Given the description of an element on the screen output the (x, y) to click on. 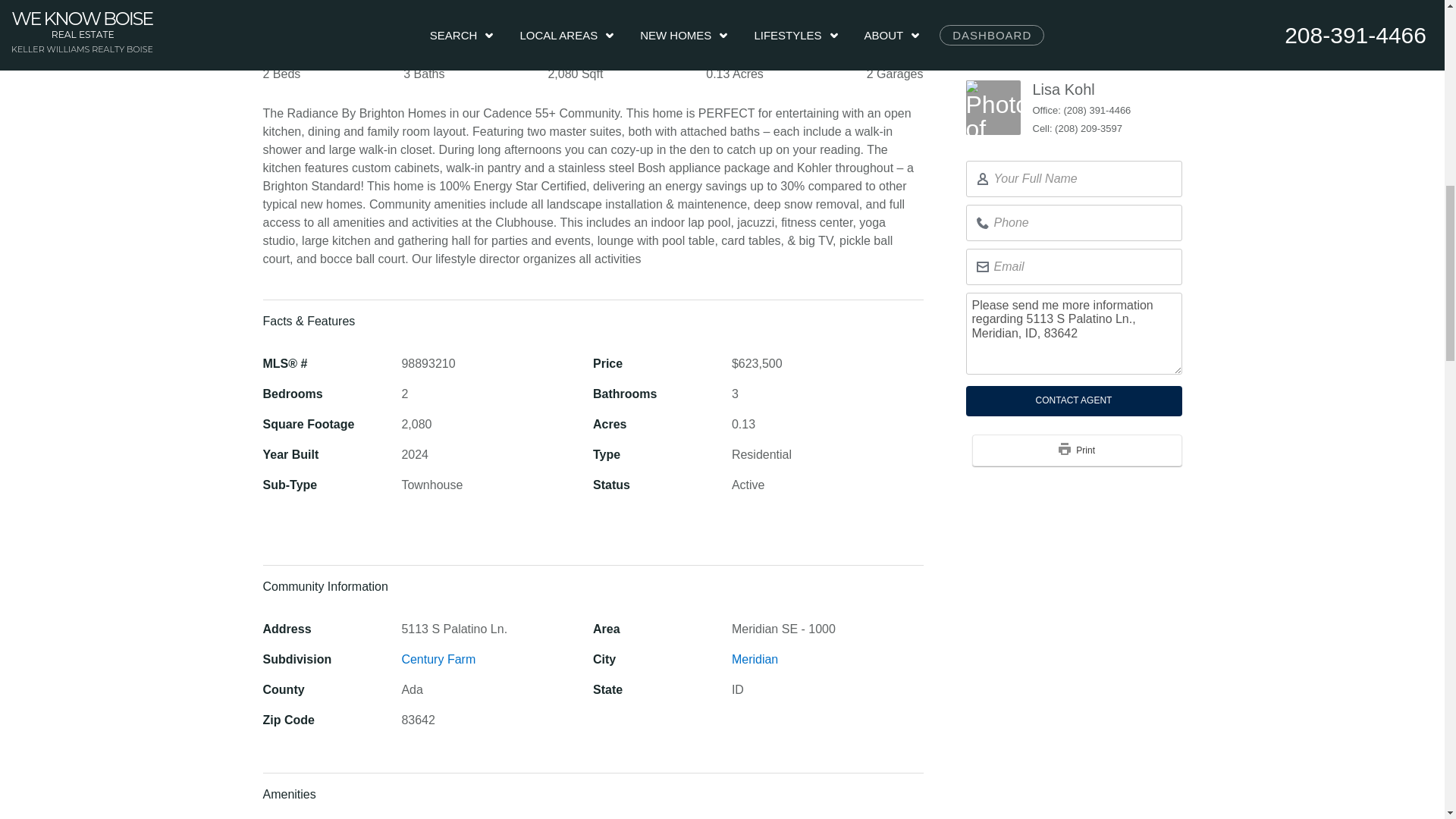
Print This Listing (1077, 411)
Print This Listing (1064, 410)
